Given the description of an element on the screen output the (x, y) to click on. 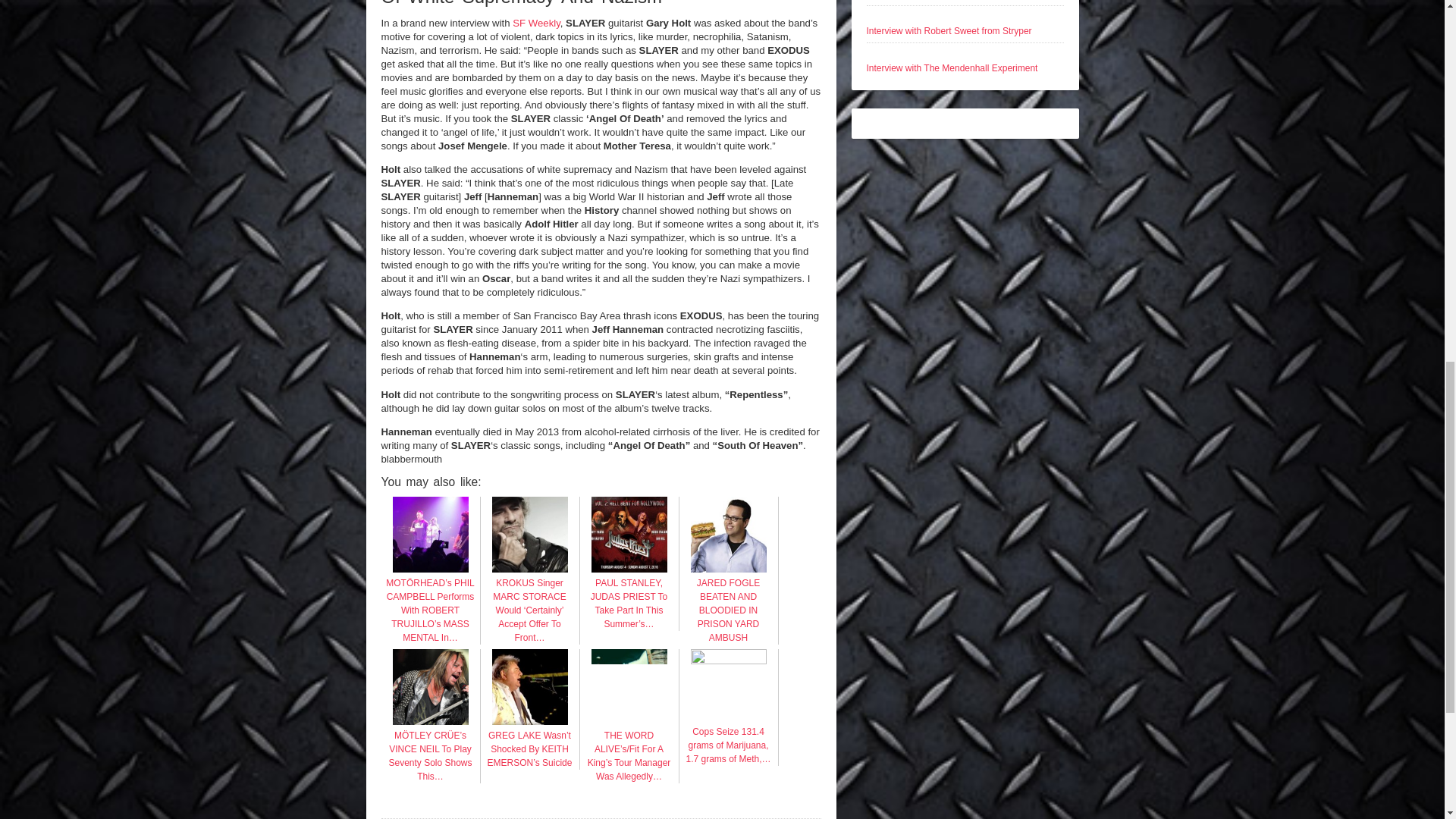
JARED FOGLE BEATEN AND BLOODIED IN PRISON YARD AMBUSH (727, 603)
SF Weekly (536, 22)
Interview with The Mendenhall Experiment (951, 68)
Interview with Robert Sweet from Stryper (948, 30)
